Given the description of an element on the screen output the (x, y) to click on. 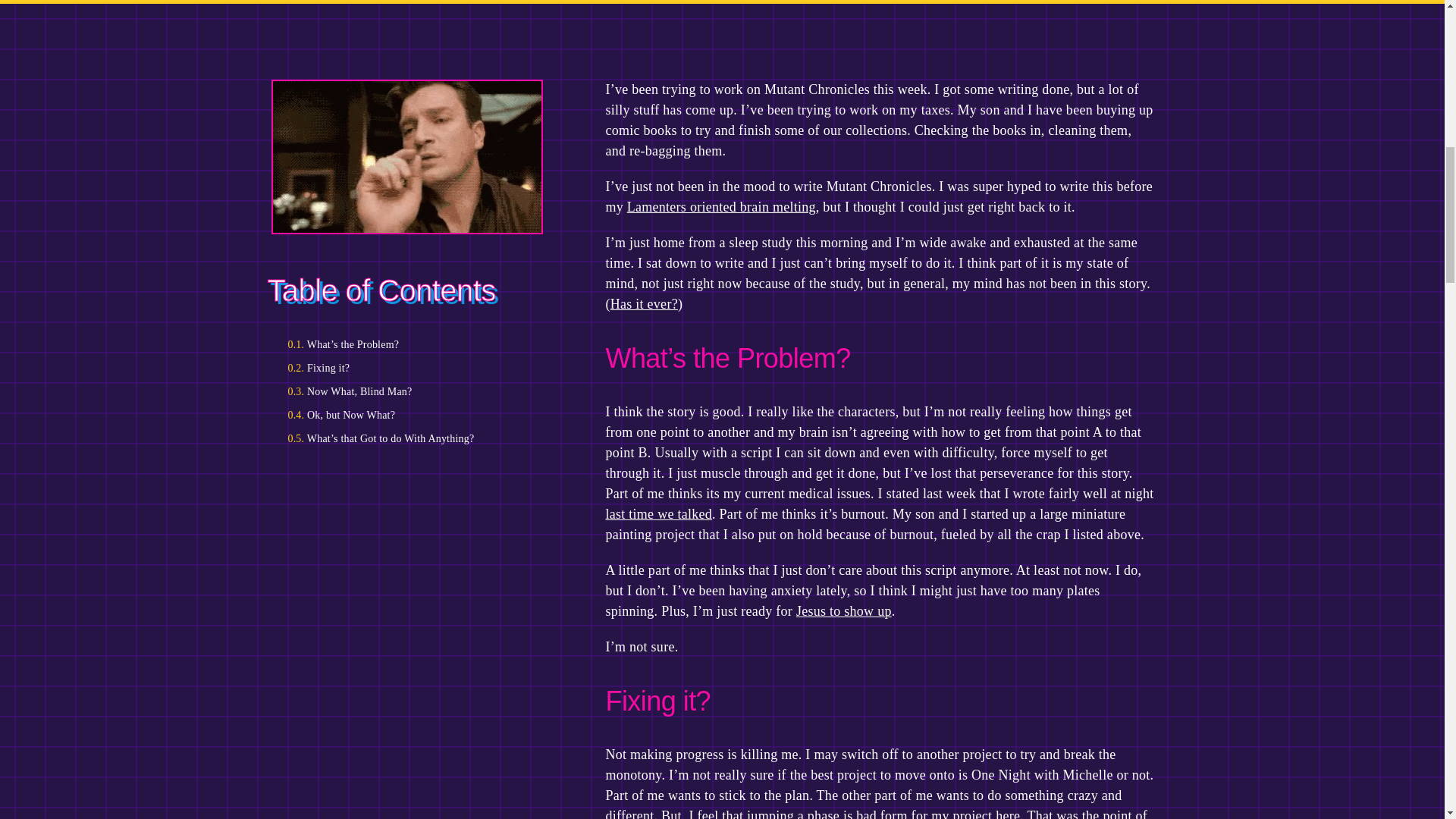
Fixing it? (412, 368)
last time we talked (658, 513)
Has it ever? (644, 304)
Jesus to show up (843, 611)
Lamenters oriented brain melting (721, 206)
Ok, but Now What? (412, 414)
castle-ahh (407, 156)
Now What, Blind Man? (412, 391)
